Given the description of an element on the screen output the (x, y) to click on. 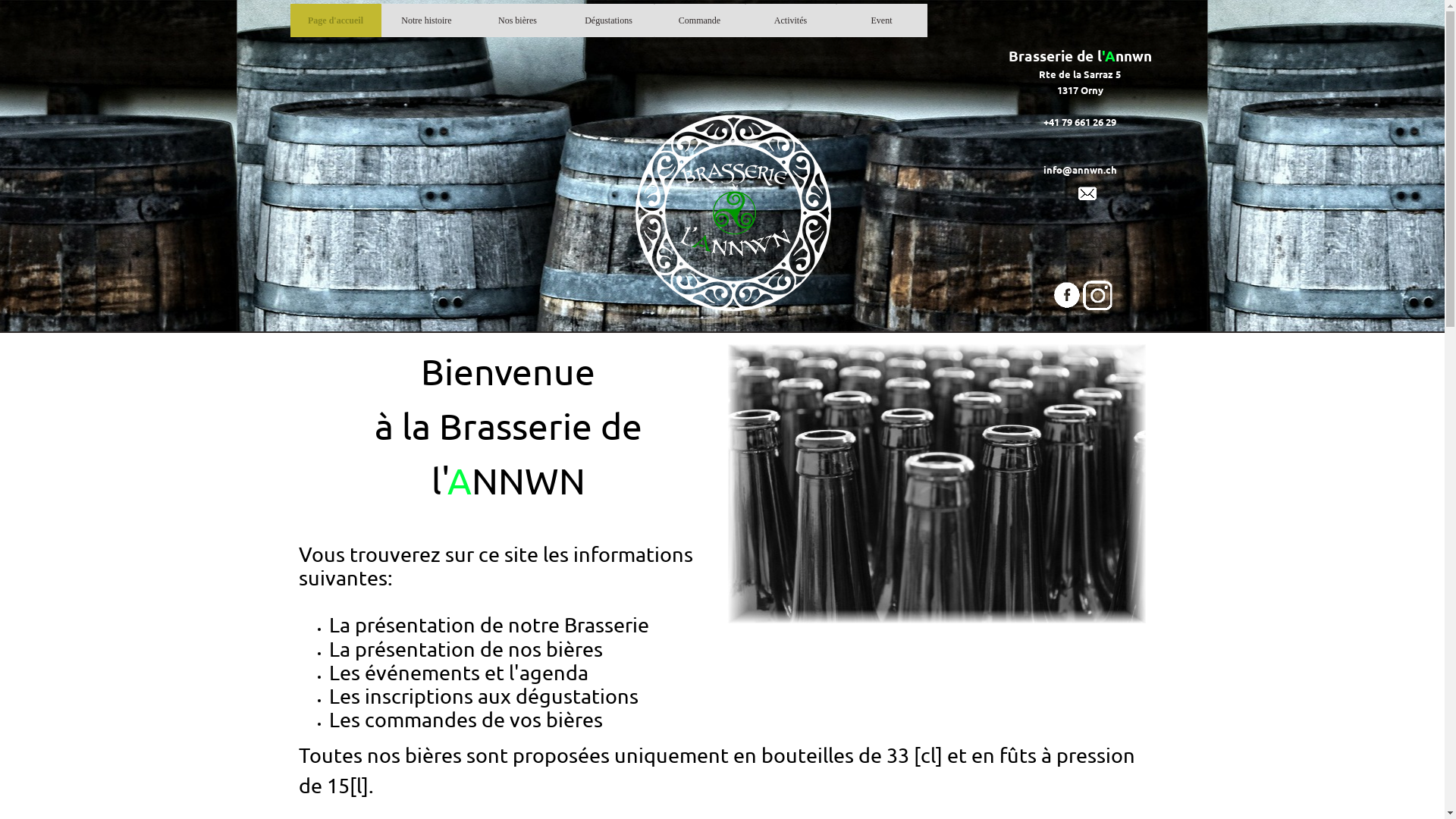
Page d'accueil Element type: text (335, 20)
Commande Element type: text (699, 20)
Notre histoire Element type: text (426, 20)
